Given the description of an element on the screen output the (x, y) to click on. 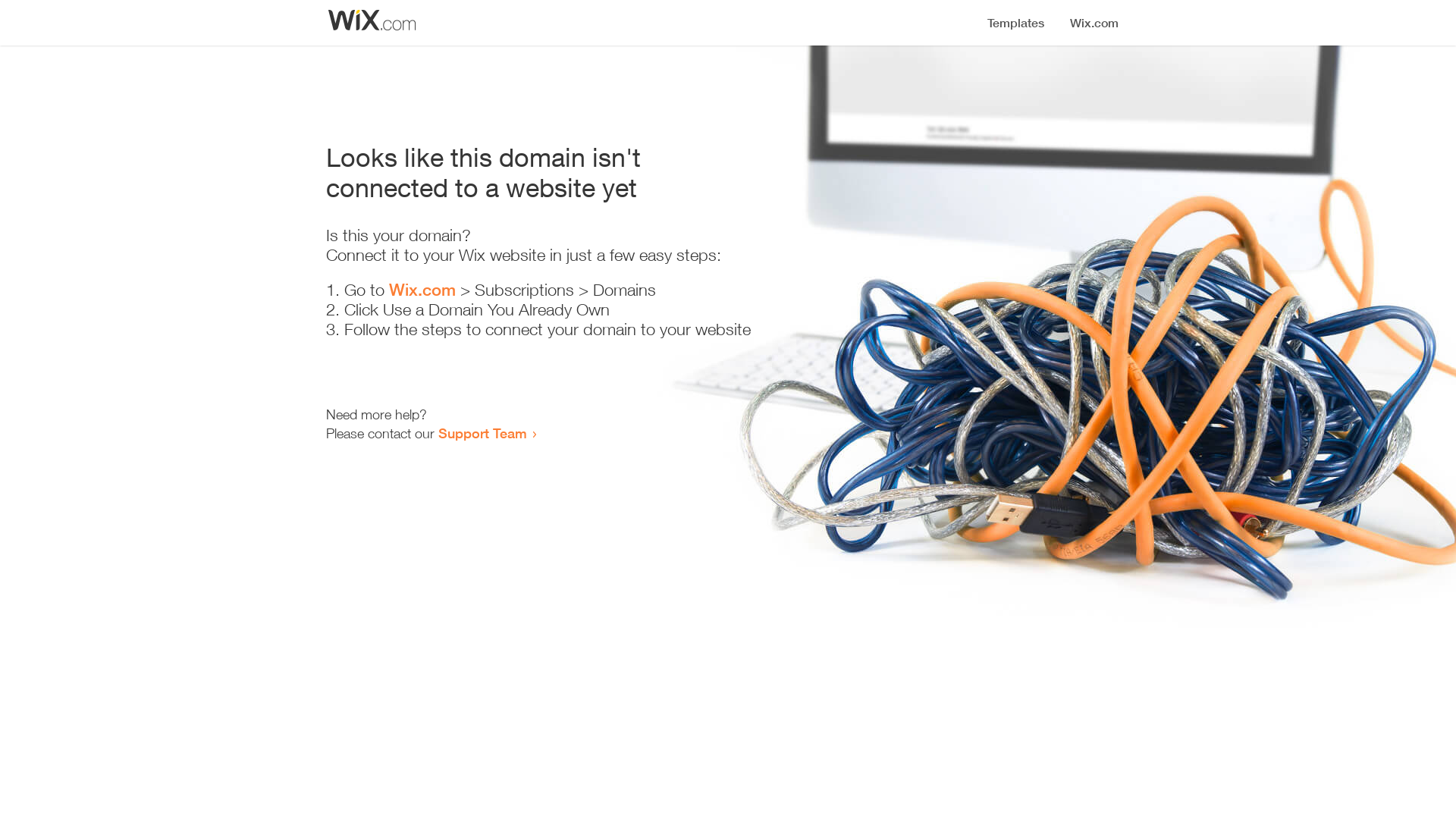
Support Team Element type: text (482, 432)
Wix.com Element type: text (422, 289)
